Given the description of an element on the screen output the (x, y) to click on. 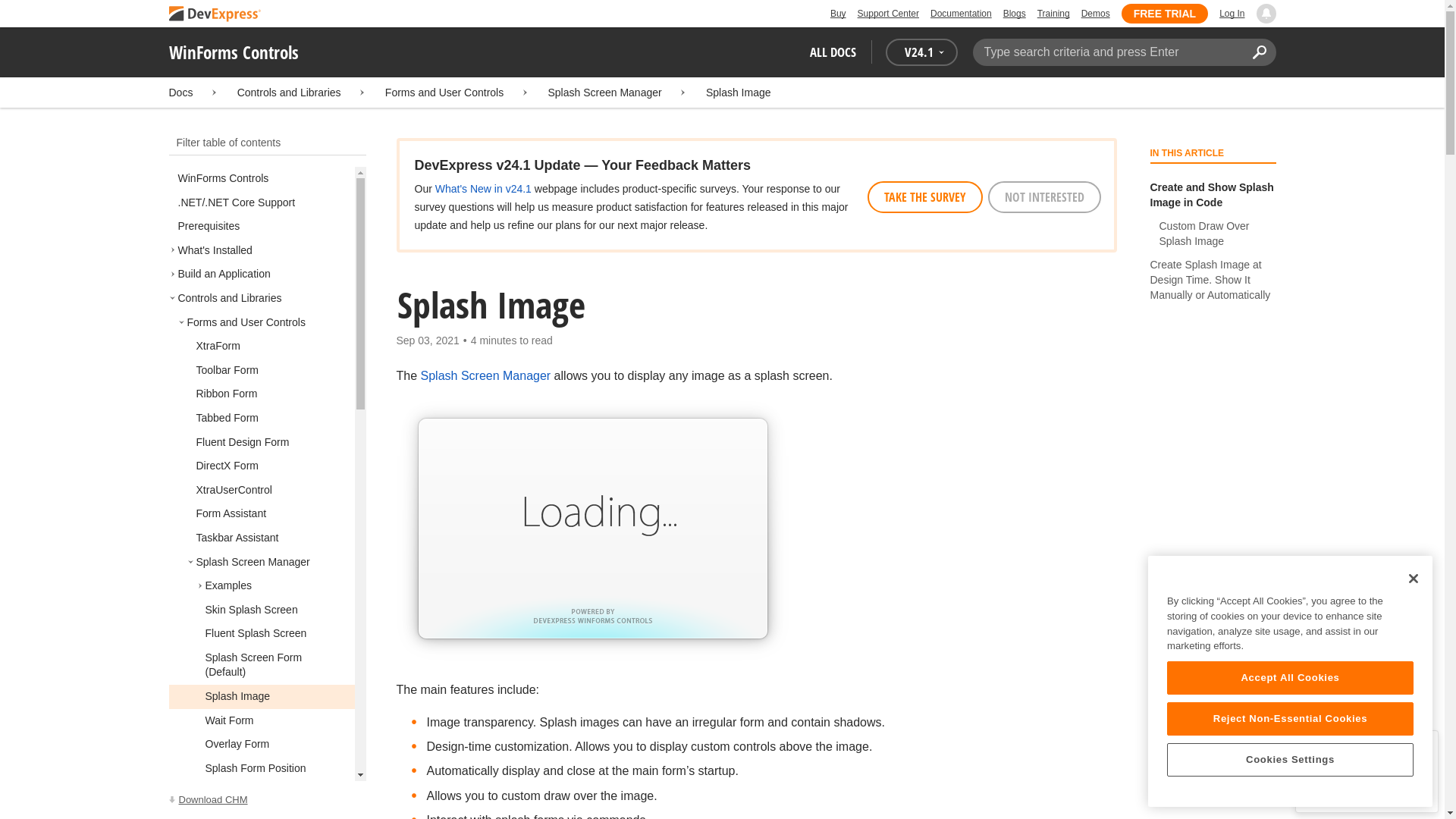
Documentation (960, 13)
WinForms Controls, v24.1 (266, 800)
Custom Draw Over Splash Image (1213, 233)
Splash Screen Manager (604, 92)
Custom Draw Over Splash Image (1213, 233)
Splash Image (738, 92)
Demos (1095, 13)
Blogs (1014, 13)
Support Center (887, 13)
V 24.1 (921, 52)
IN THIS ARTICLE (1212, 154)
Create and Show Splash Image in Code (1214, 194)
